Given the description of an element on the screen output the (x, y) to click on. 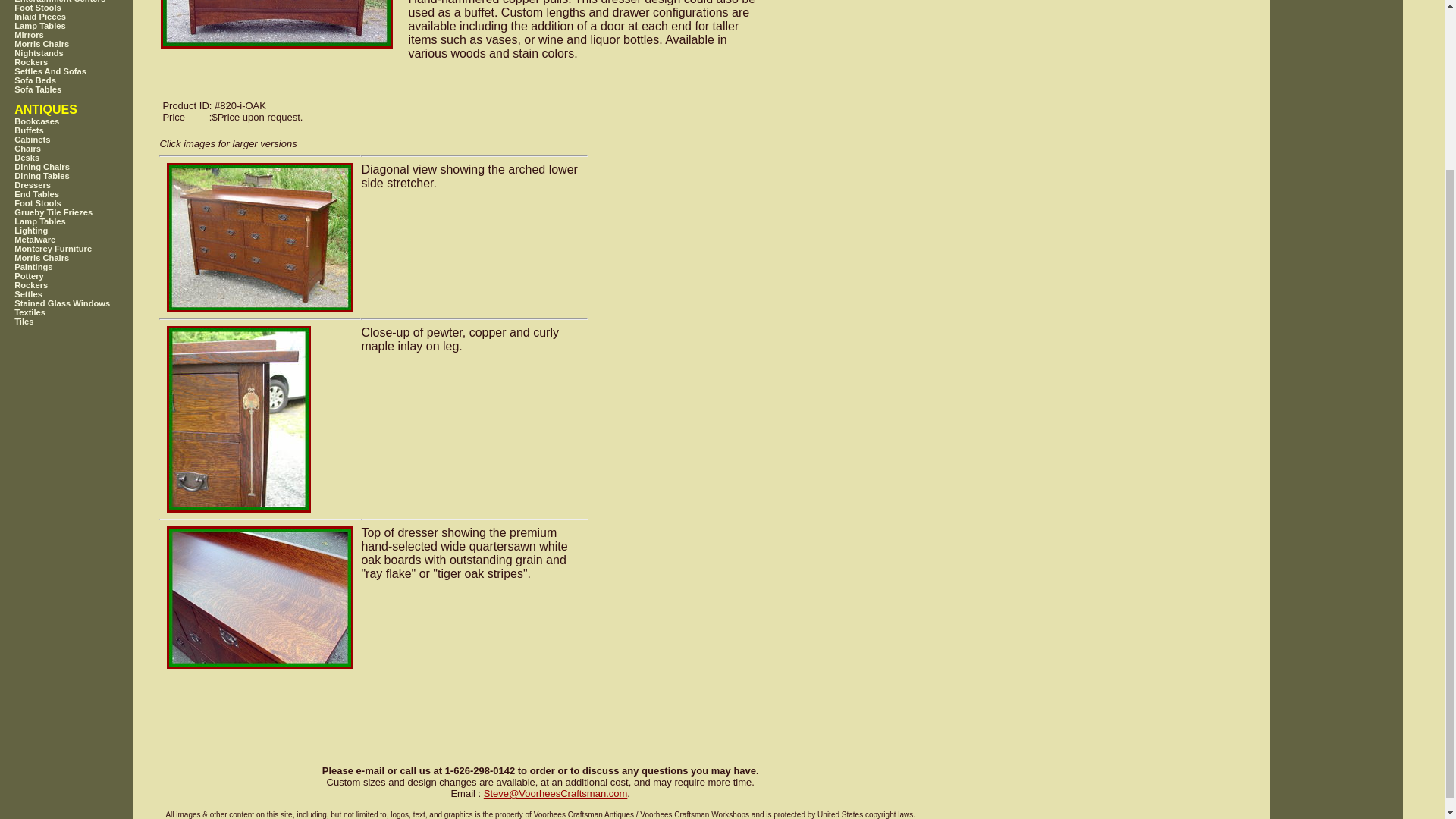
Settles And Sofas (82, 71)
Sofa Beds (82, 80)
Buffets (82, 130)
Mirrors (82, 34)
Entertainment Centers (82, 1)
Dining Chairs (82, 166)
Chairs (82, 148)
Dressers (82, 184)
Foot Stools (82, 203)
Nightstands (82, 52)
